Given the description of an element on the screen output the (x, y) to click on. 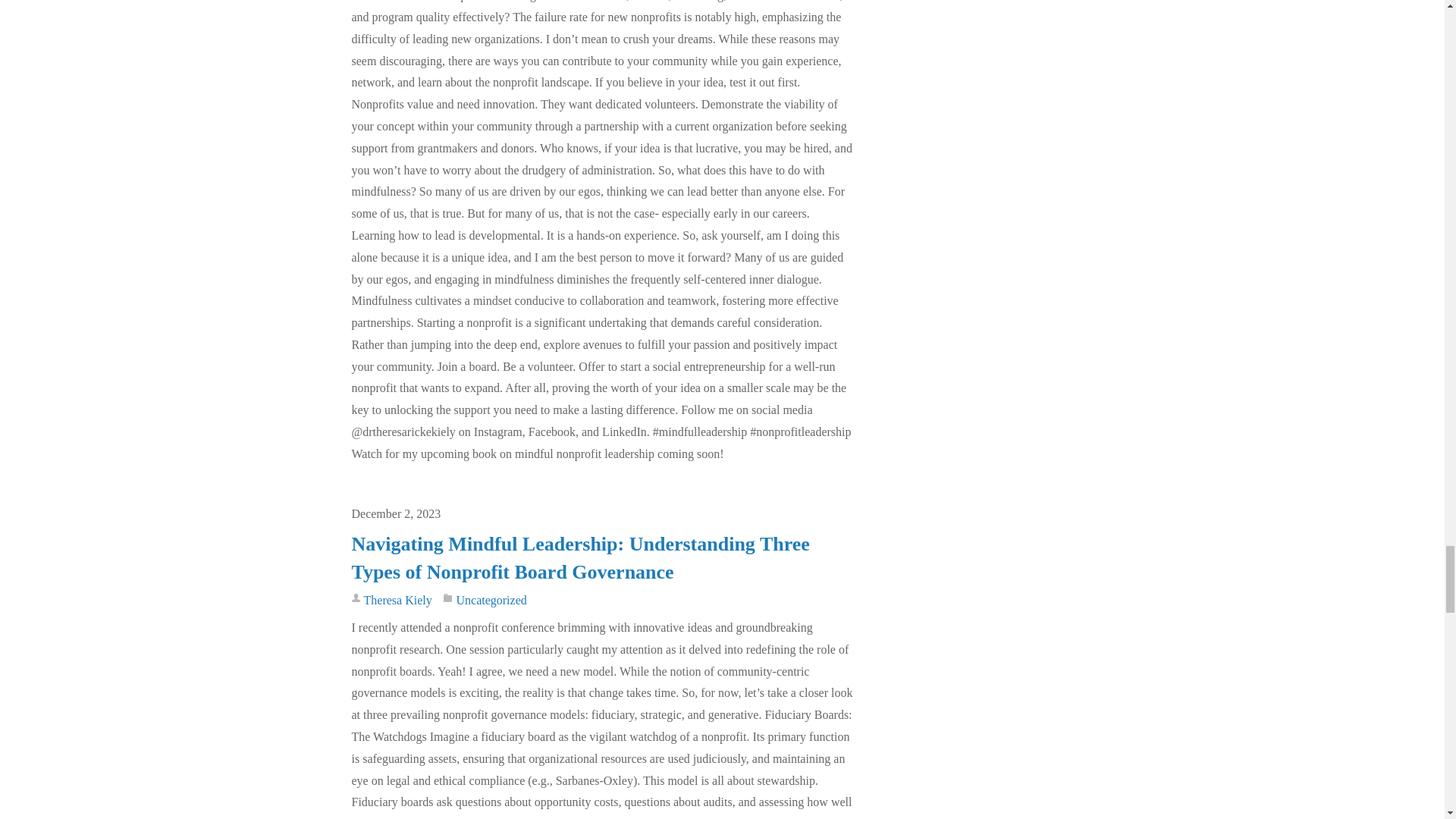
Theresa Kiely (398, 599)
Uncategorized (490, 599)
